Given the description of an element on the screen output the (x, y) to click on. 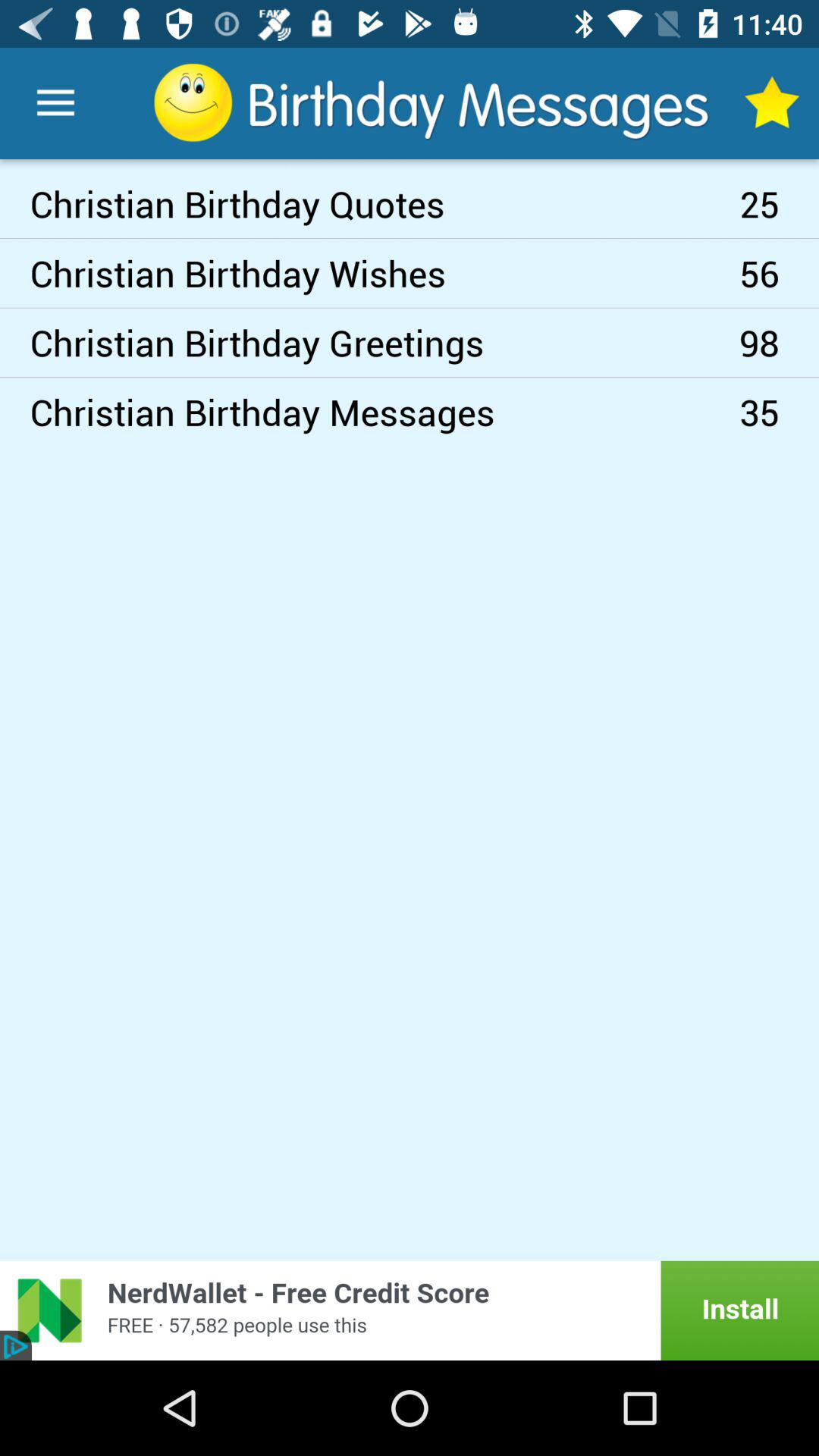
scroll to 98 icon (779, 342)
